Given the description of an element on the screen output the (x, y) to click on. 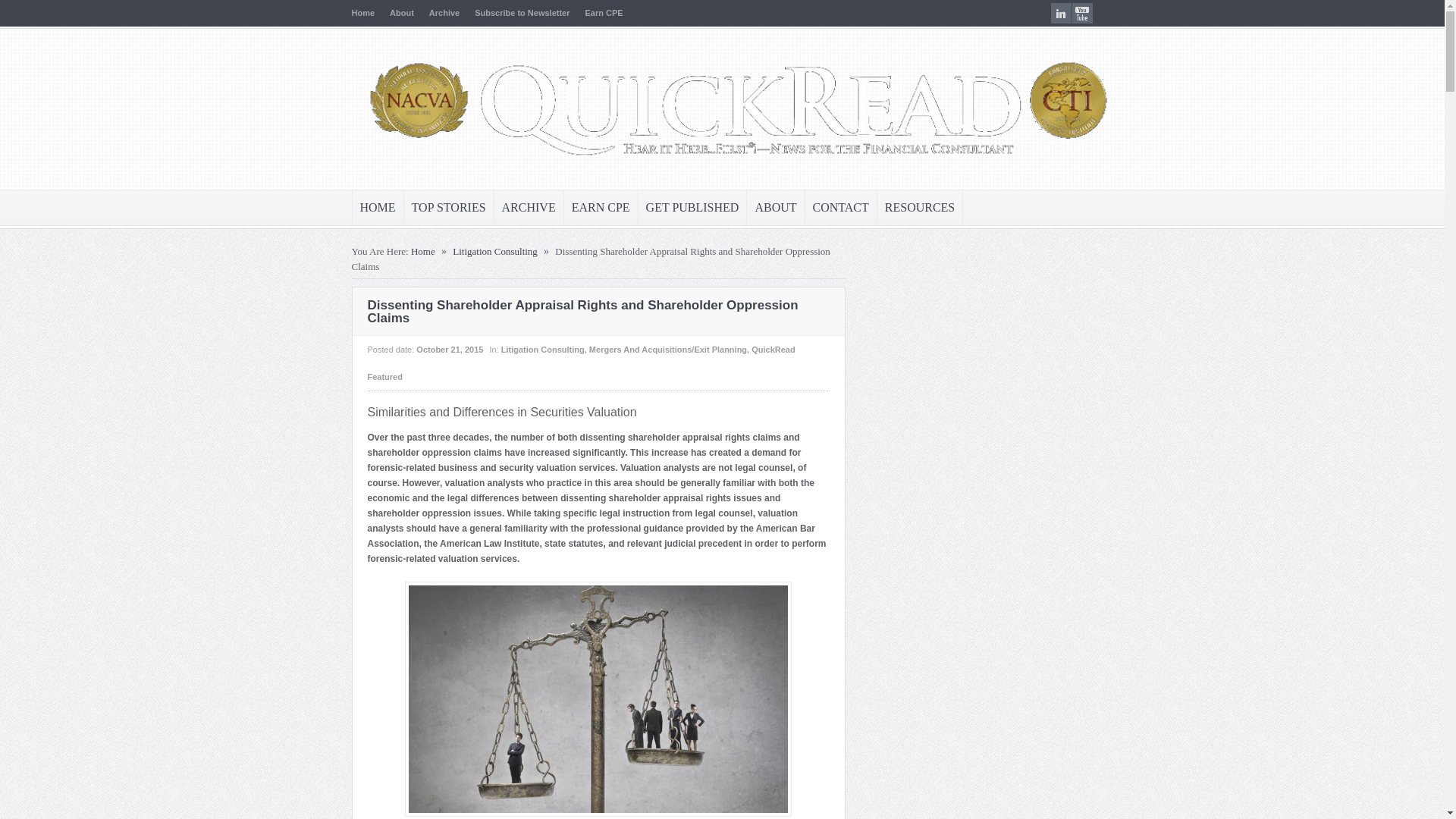
About (401, 12)
GET PUBLISHED (692, 207)
youtube (1082, 13)
Home (363, 12)
Subscribe to Newsletter (521, 12)
RESOURCES (919, 207)
CONTACT (840, 207)
Archive (444, 12)
HOME (377, 207)
ABOUT (774, 207)
